Given the description of an element on the screen output the (x, y) to click on. 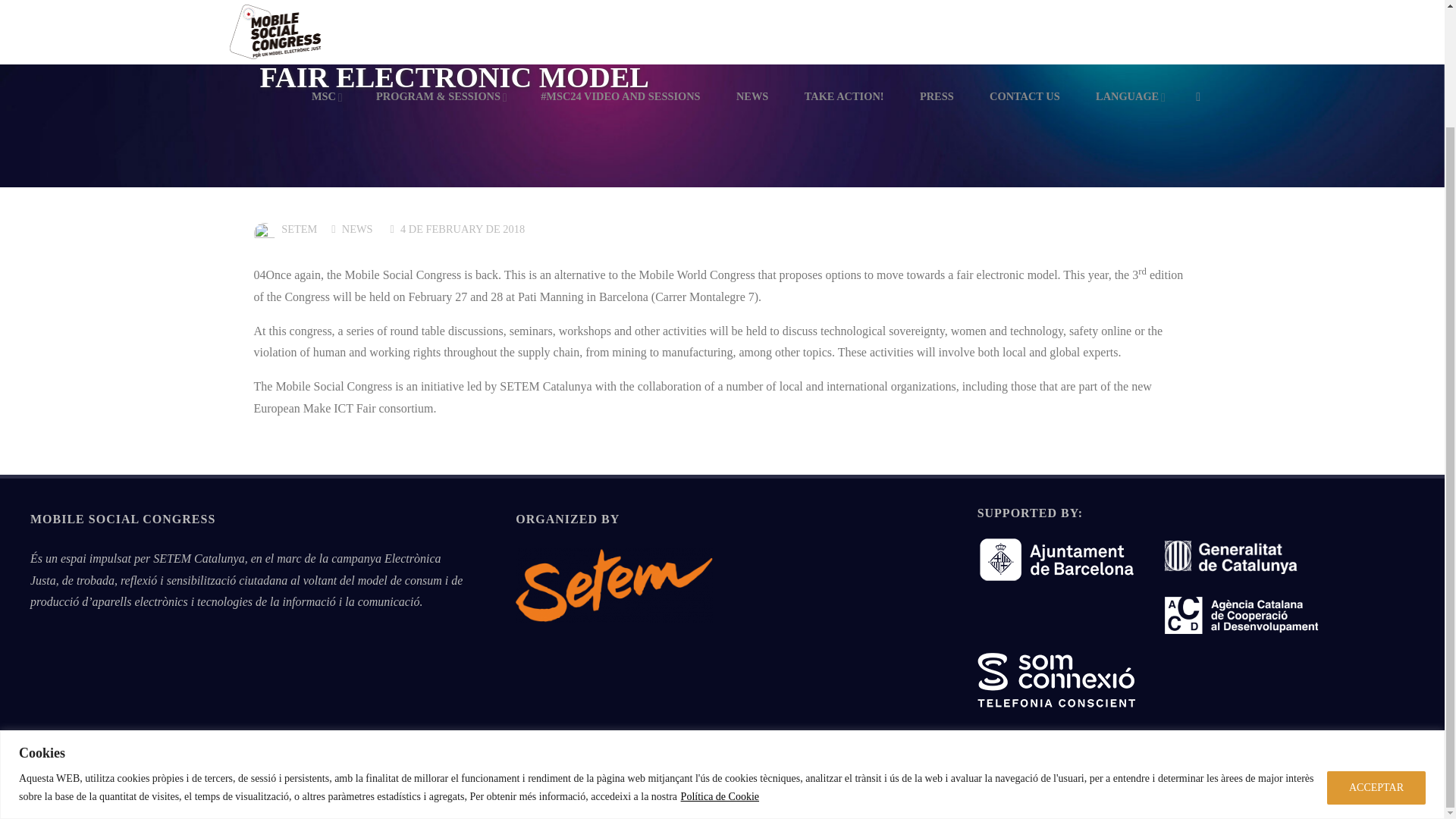
ACCEPTAR (1375, 647)
Youtube (1149, 795)
LinkedIn (1124, 795)
Twitter (1073, 795)
TikTok (1200, 795)
Instagram (1048, 795)
View all posts by Setem (298, 229)
Telegram (1175, 795)
Facebook (1099, 795)
